Given the description of an element on the screen output the (x, y) to click on. 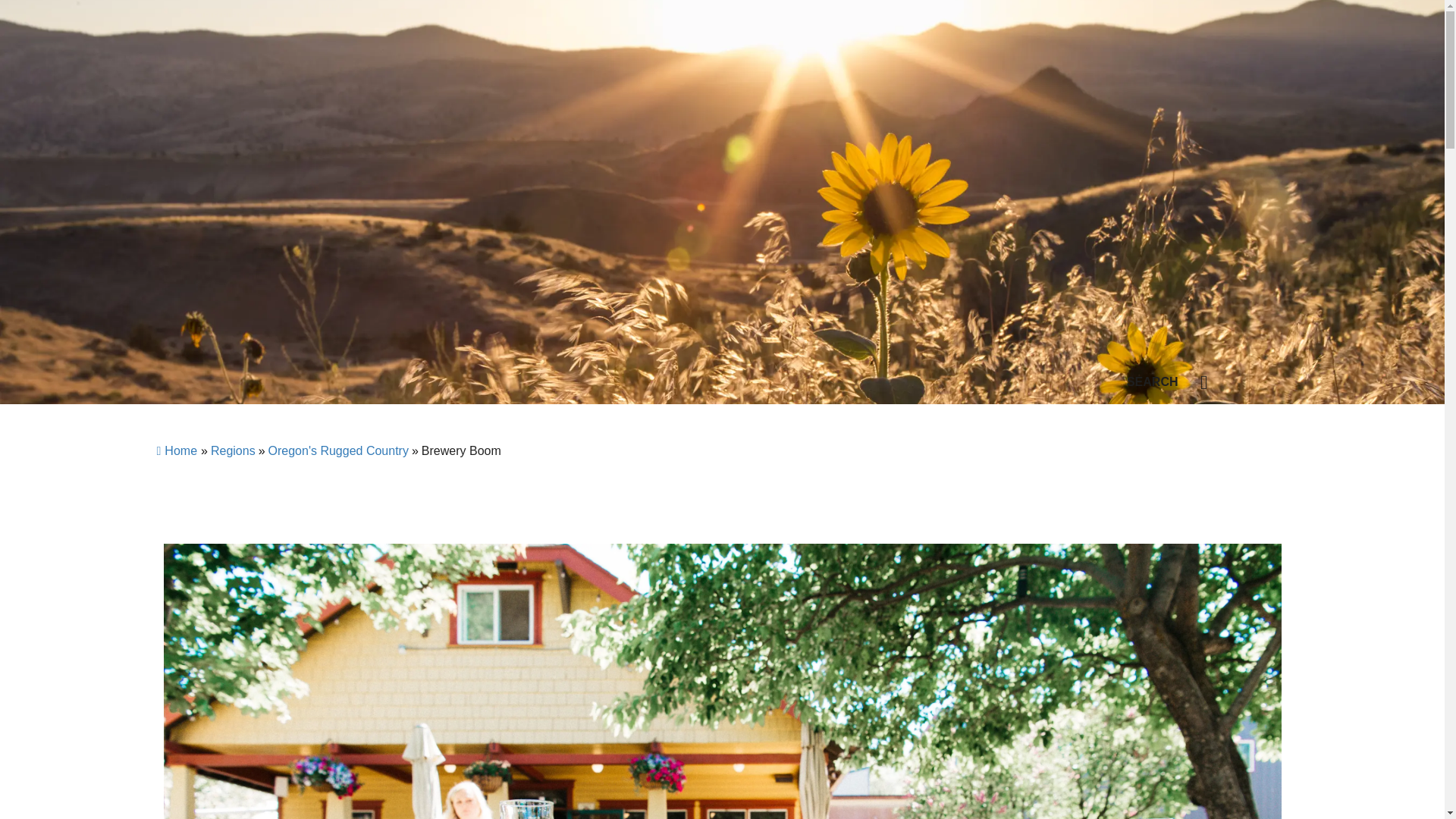
Brewery Boom (461, 450)
Home (175, 450)
SEARCH (1173, 382)
Regions (233, 450)
Category Name (233, 450)
Oregon's Rugged Country (338, 450)
Oregon's Rugged Country (338, 450)
